Given the description of an element on the screen output the (x, y) to click on. 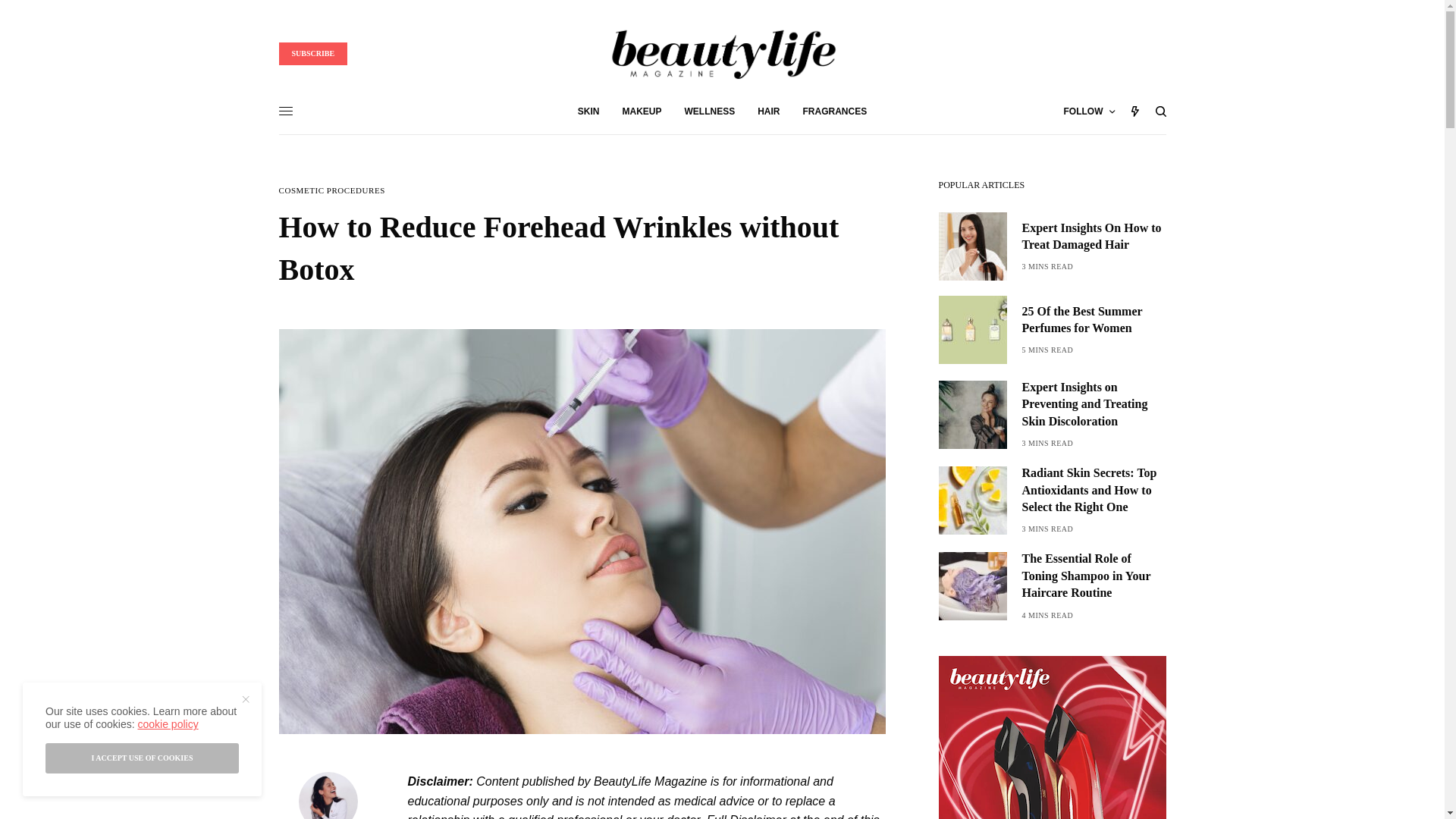
BeautyLife Magazine (721, 53)
SUBSCRIBE (313, 53)
COSMETIC PROCEDURES (332, 190)
FOLLOW (1089, 111)
FRAGRANCES (835, 111)
WELLNESS (709, 111)
